Given the description of an element on the screen output the (x, y) to click on. 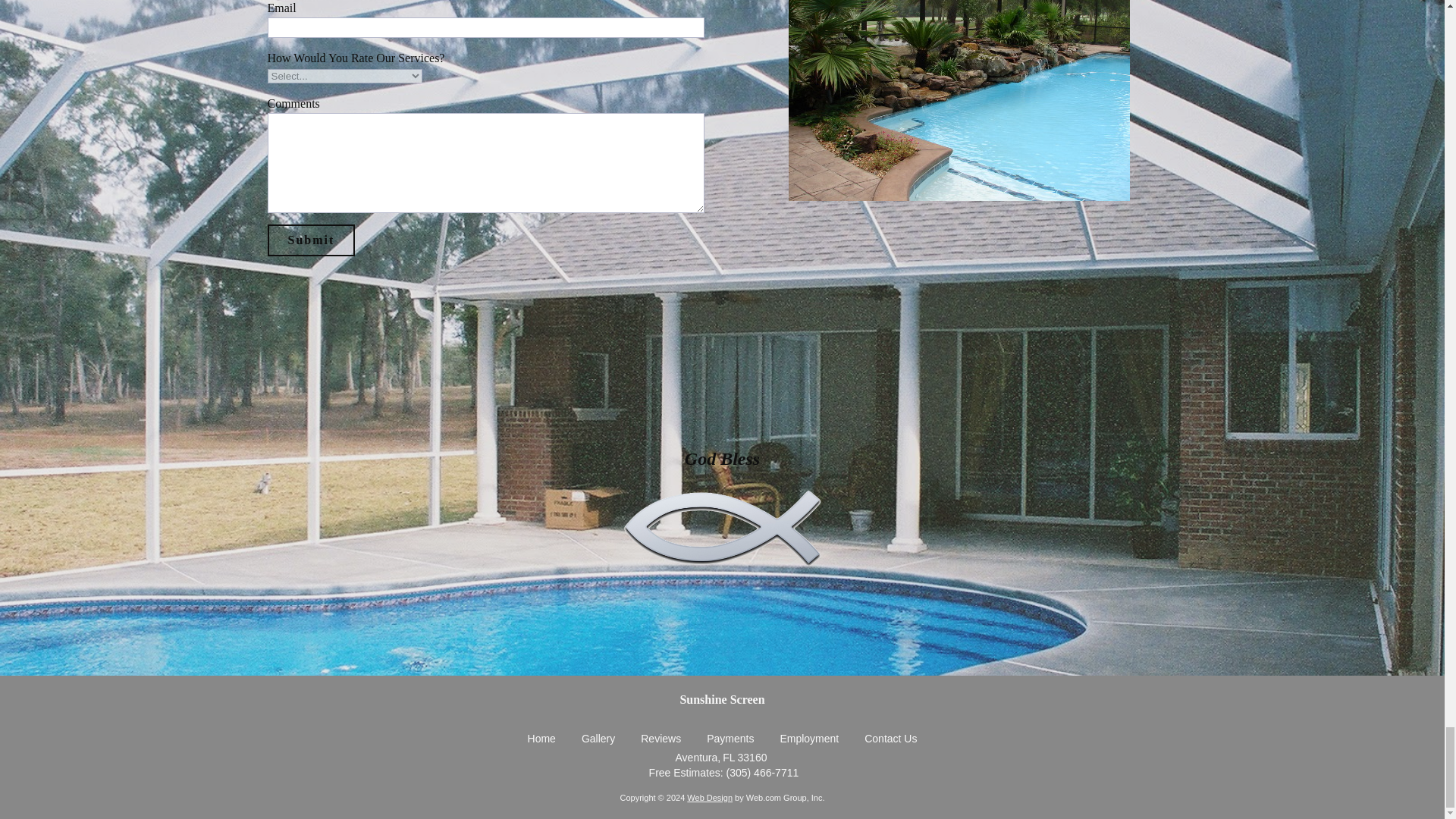
Web Design (709, 797)
Submit (310, 240)
Contact Us (890, 738)
Submit (310, 240)
Employment (808, 738)
Gallery (597, 738)
Payments (730, 738)
Home (541, 738)
Reviews (660, 738)
